Given the description of an element on the screen output the (x, y) to click on. 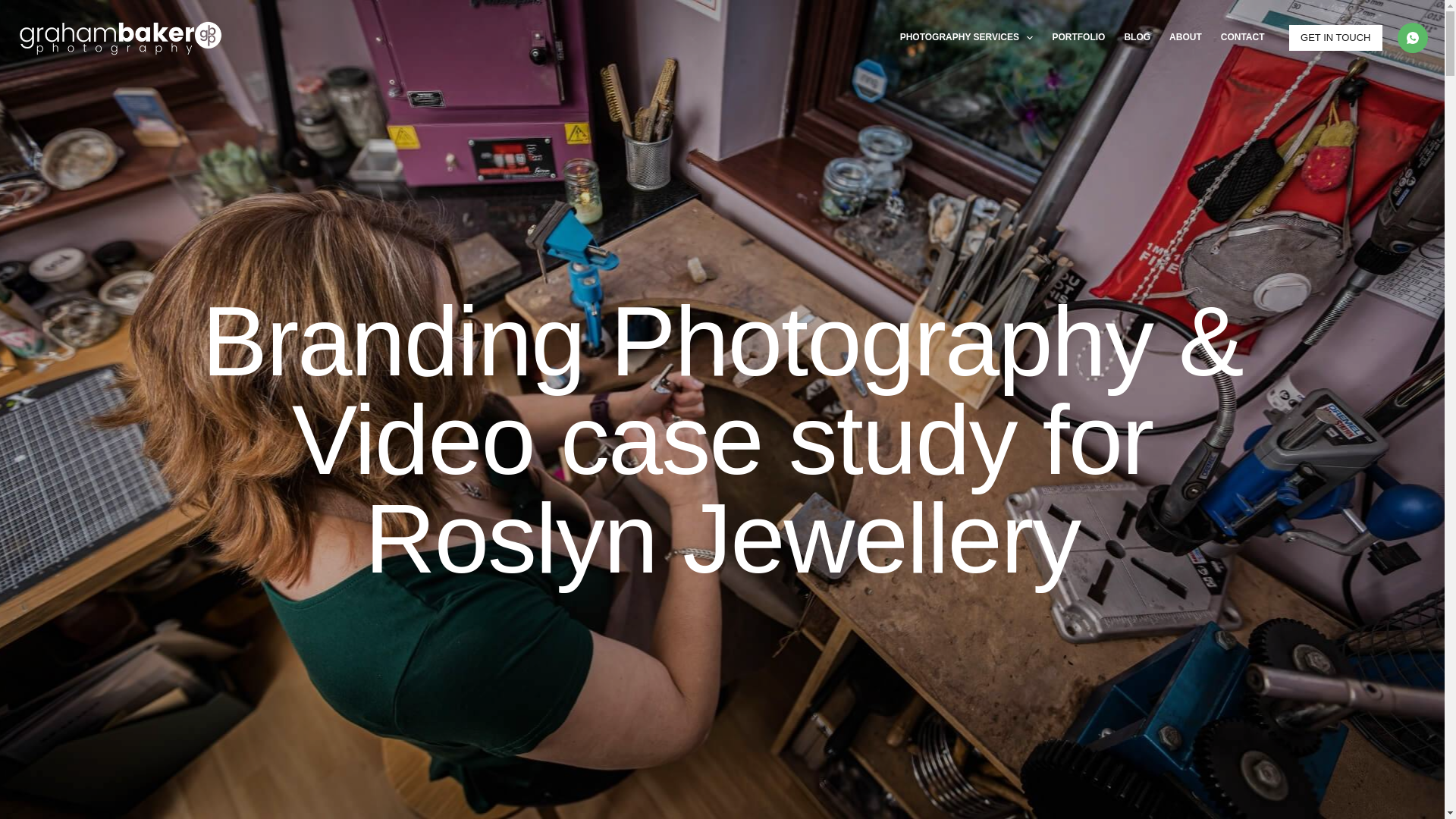
GET IN TOUCH (1334, 37)
Skip to content (15, 7)
PORTFOLIO (1078, 38)
PHOTOGRAPHY SERVICES (965, 38)
